Given the description of an element on the screen output the (x, y) to click on. 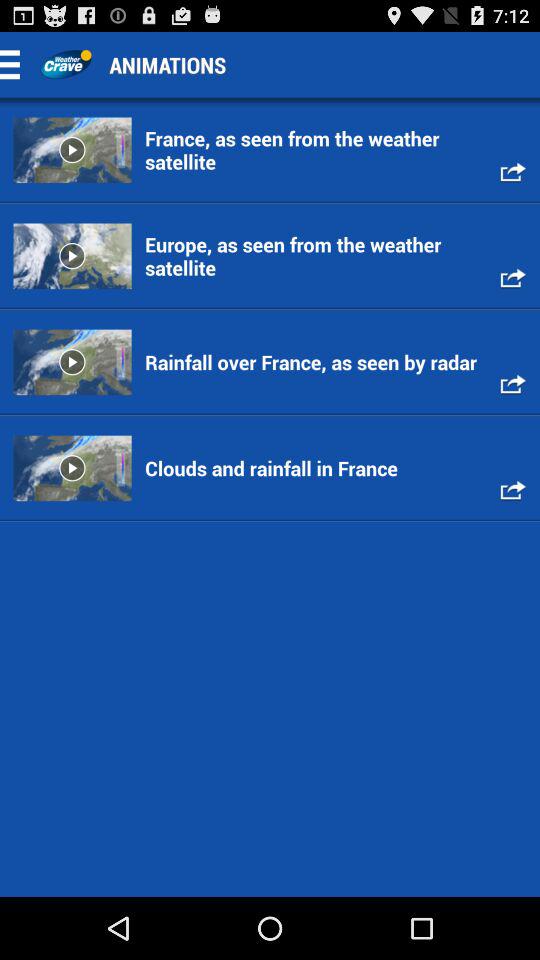
app home (65, 64)
